Given the description of an element on the screen output the (x, y) to click on. 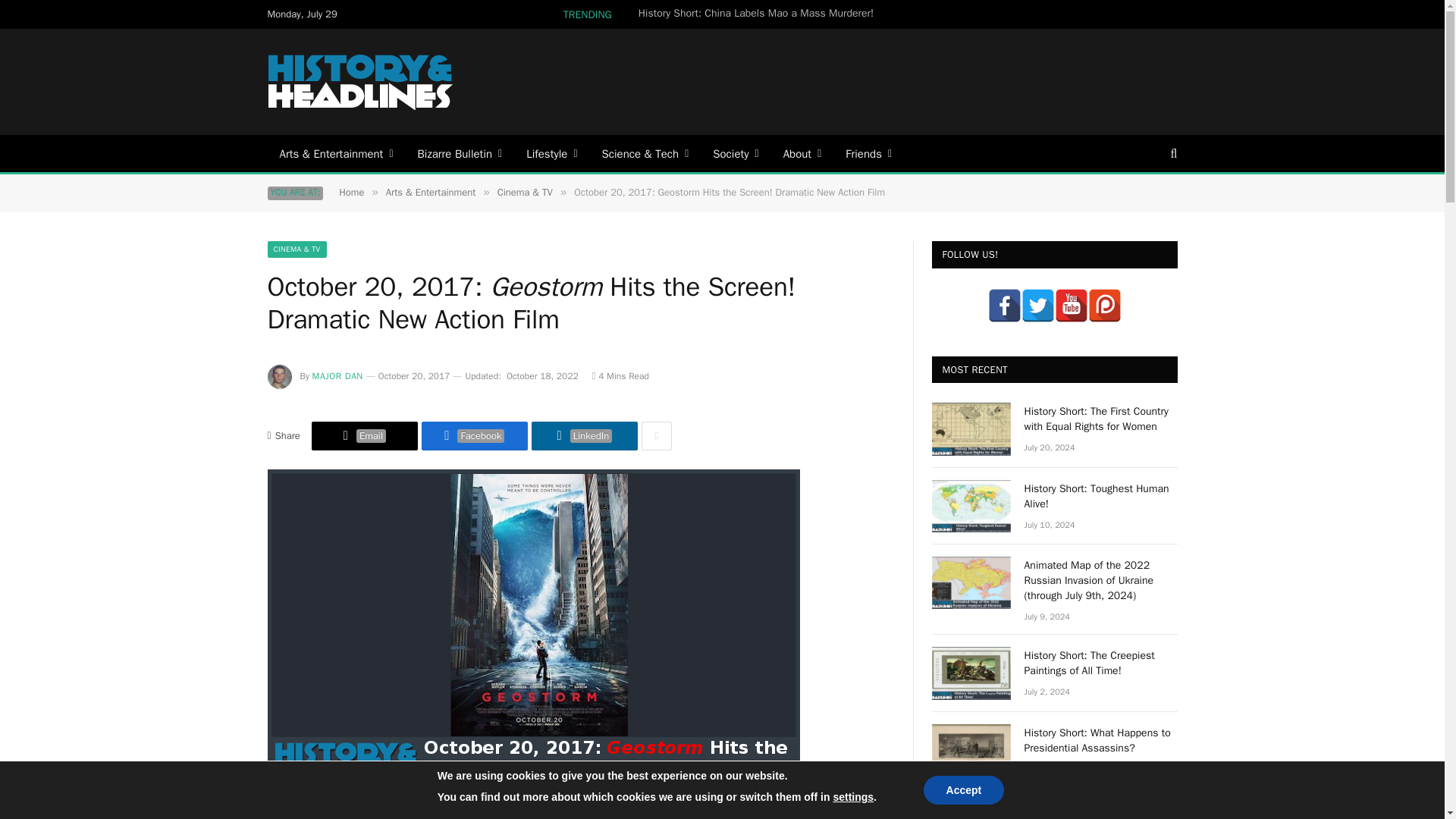
Bizarre Bulletin (460, 153)
Share on Facebook (474, 435)
Advertisement (900, 79)
Share via Email (364, 435)
Lifestyle (551, 153)
History Short: China Labels Mao a Mass Murderer! (759, 13)
Share on LinkedIn (584, 435)
Posts by Major Dan (337, 376)
Society (735, 153)
History and Headlines (361, 81)
